Given the description of an element on the screen output the (x, y) to click on. 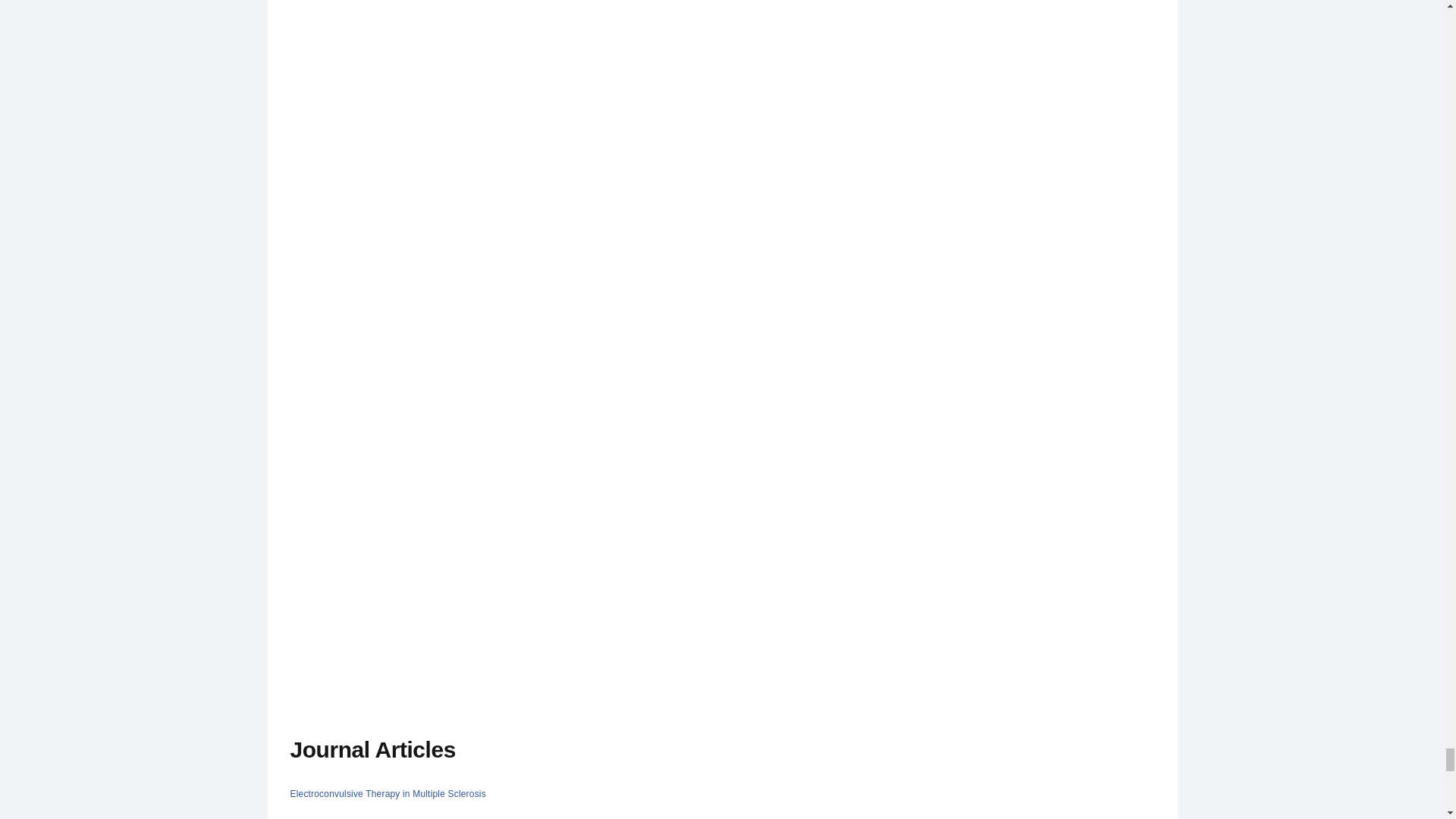
Electroconvulsive Therapy in Multiple Sclerosis (386, 793)
